Given the description of an element on the screen output the (x, y) to click on. 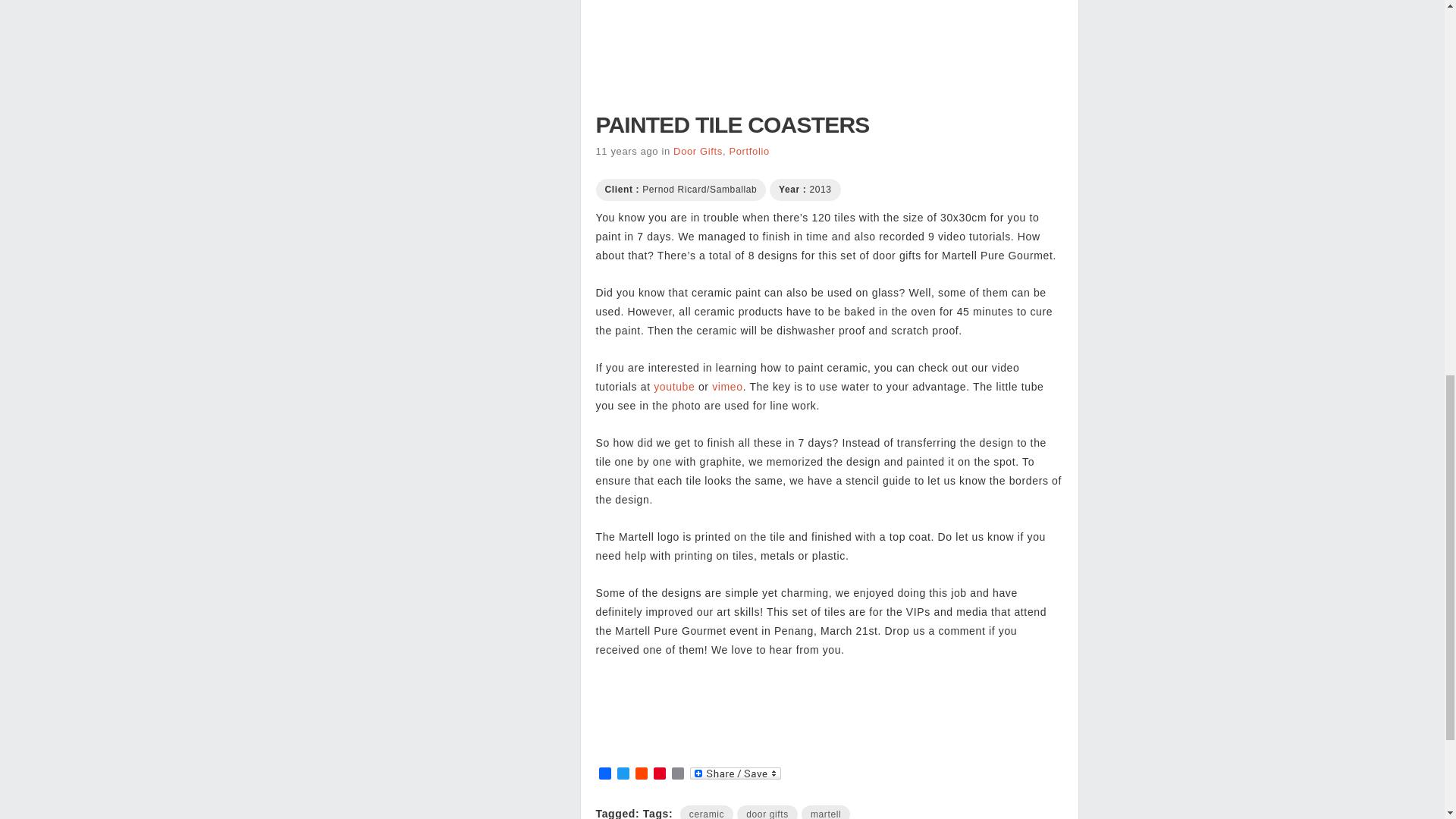
Email (677, 774)
Facebook (604, 774)
Reddit (640, 774)
Pinterest (659, 774)
Twitter (622, 774)
